Given the description of an element on the screen output the (x, y) to click on. 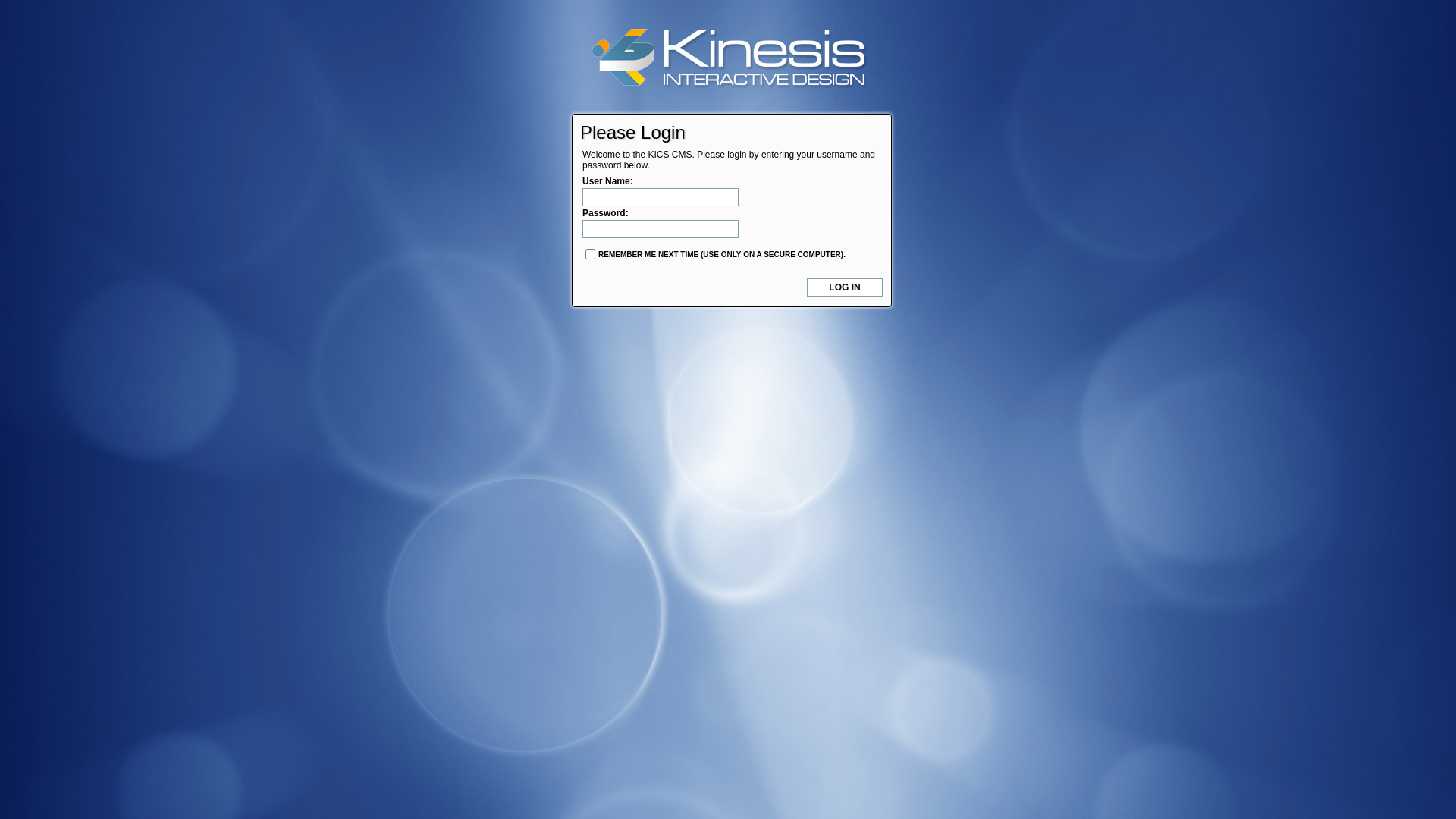
Log In Element type: text (844, 287)
